Given the description of an element on the screen output the (x, y) to click on. 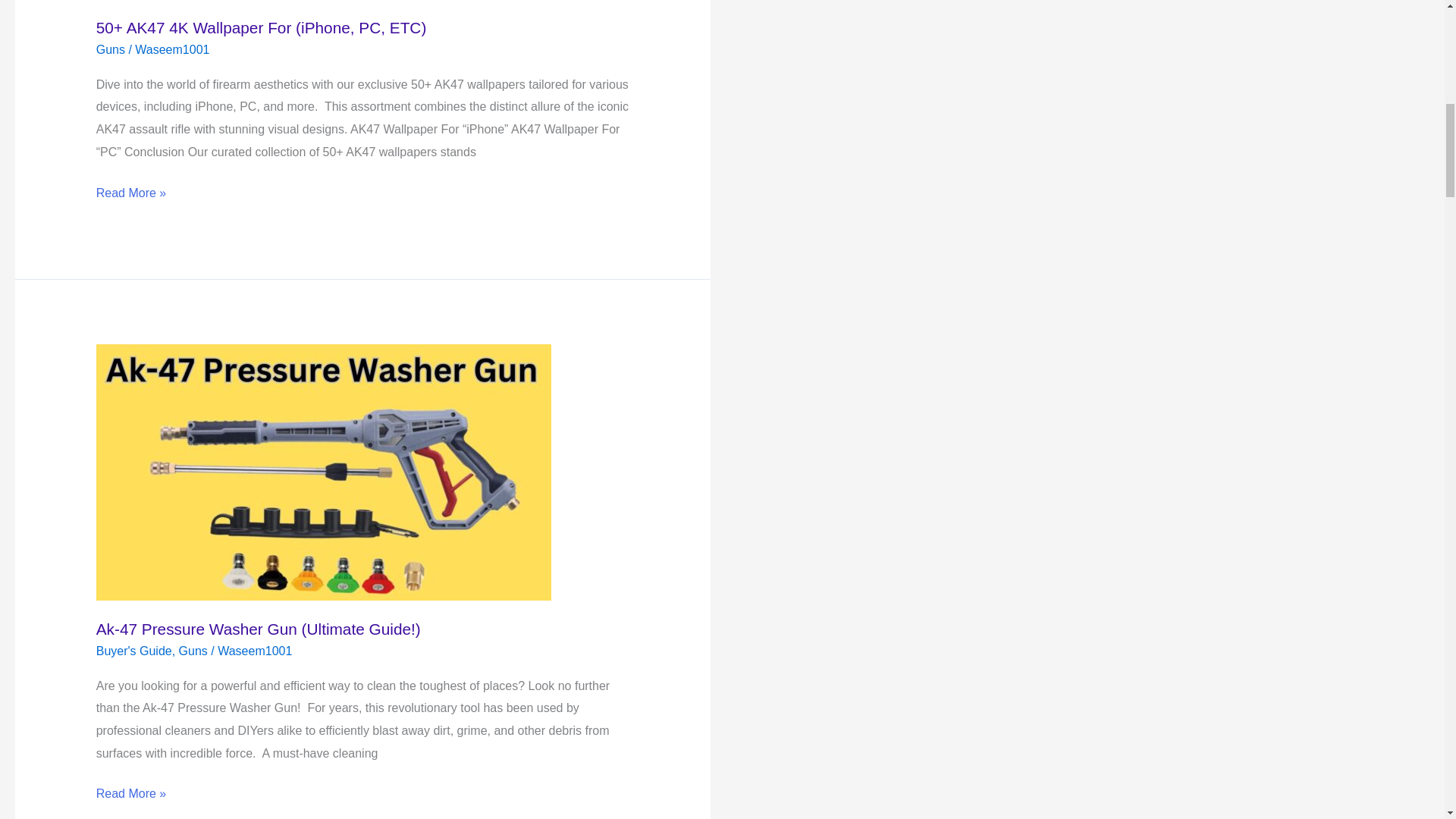
Waseem1001 (254, 650)
View all posts by Waseem1001 (172, 49)
Guns (110, 49)
View all posts by Waseem1001 (254, 650)
Waseem1001 (172, 49)
Guns (193, 650)
Buyer's Guide (133, 650)
